Given the description of an element on the screen output the (x, y) to click on. 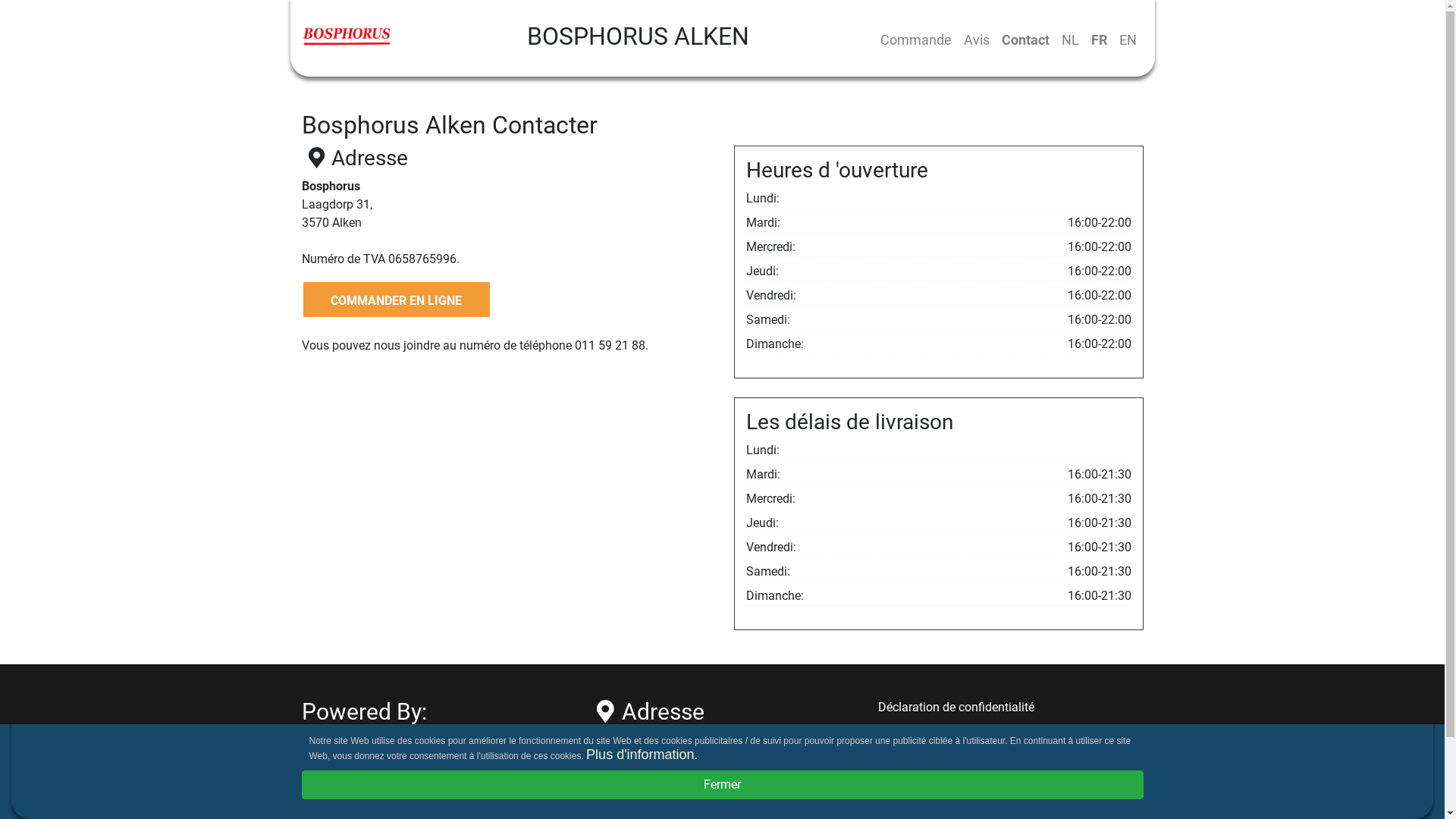
Fermer Element type: text (722, 784)
Commande Element type: text (915, 39)
FR Element type: text (1098, 39)
Contact Element type: text (1024, 39)
NL Element type: text (1070, 39)
COMMANDER EN LIGNE Element type: text (396, 299)
EN Element type: text (1127, 39)
Plus d'information. Element type: text (642, 754)
Avis Element type: text (975, 39)
